Given the description of an element on the screen output the (x, y) to click on. 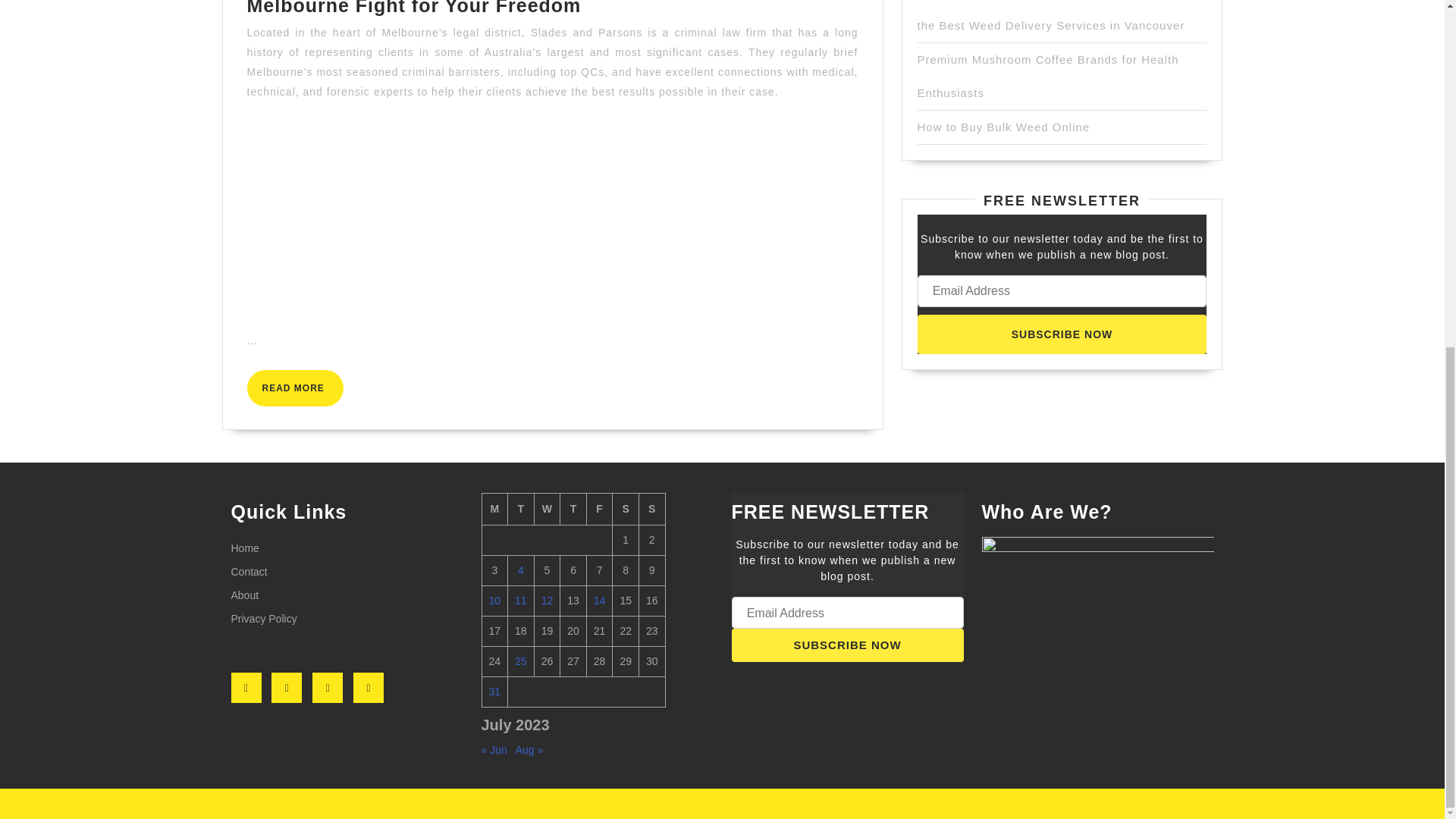
Contact (248, 571)
Premium Mushroom Coffee Brands for Health Enthusiasts (1048, 76)
Privacy Policy (45, 388)
SUBSCRIBE NOW (263, 618)
About (1062, 333)
Facebook (244, 594)
SUBSCRIBE NOW (248, 687)
Home (846, 644)
How to Buy Bulk Weed Online (244, 548)
